Given the description of an element on the screen output the (x, y) to click on. 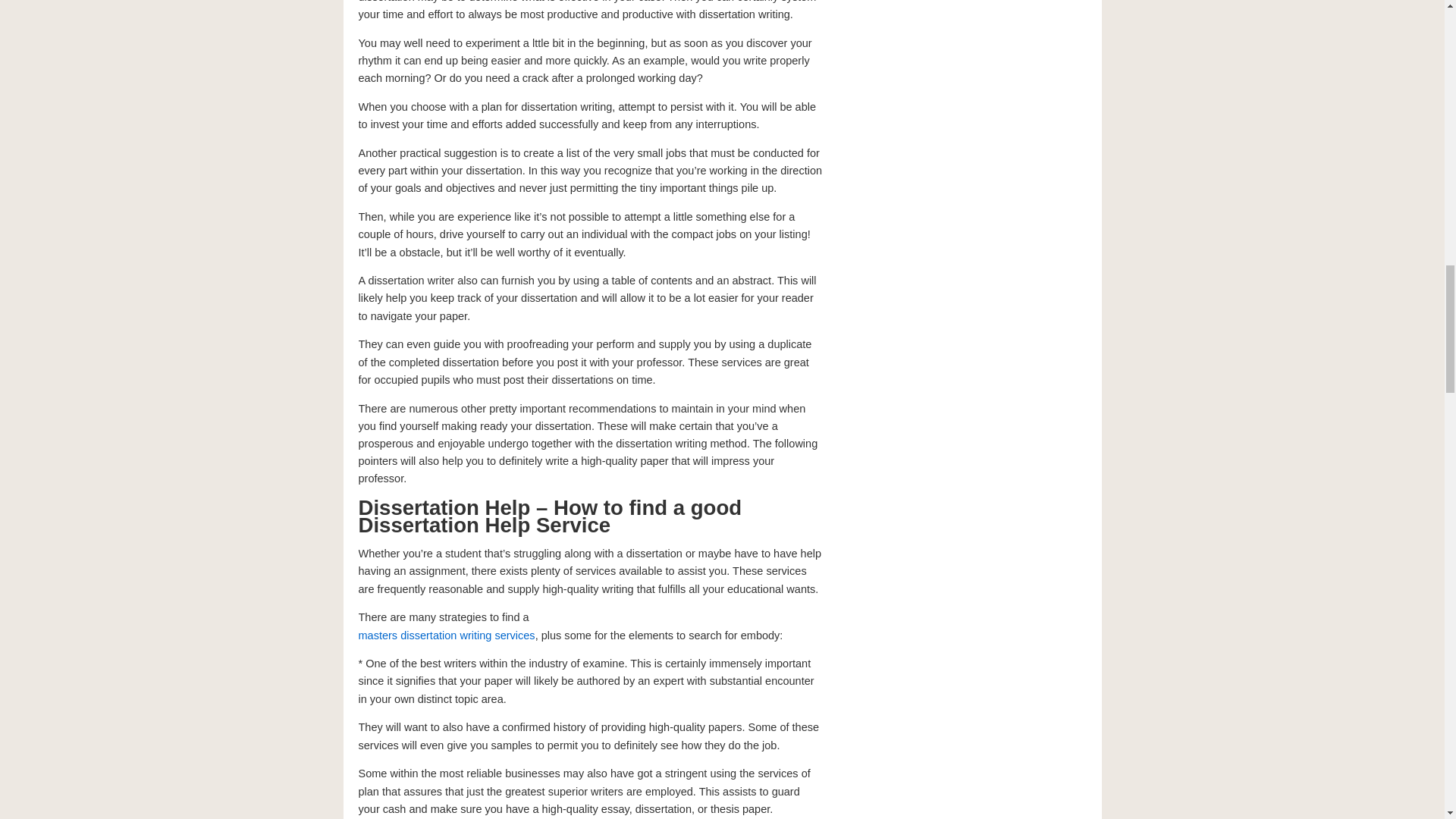
masters dissertation writing services (446, 635)
